Given the description of an element on the screen output the (x, y) to click on. 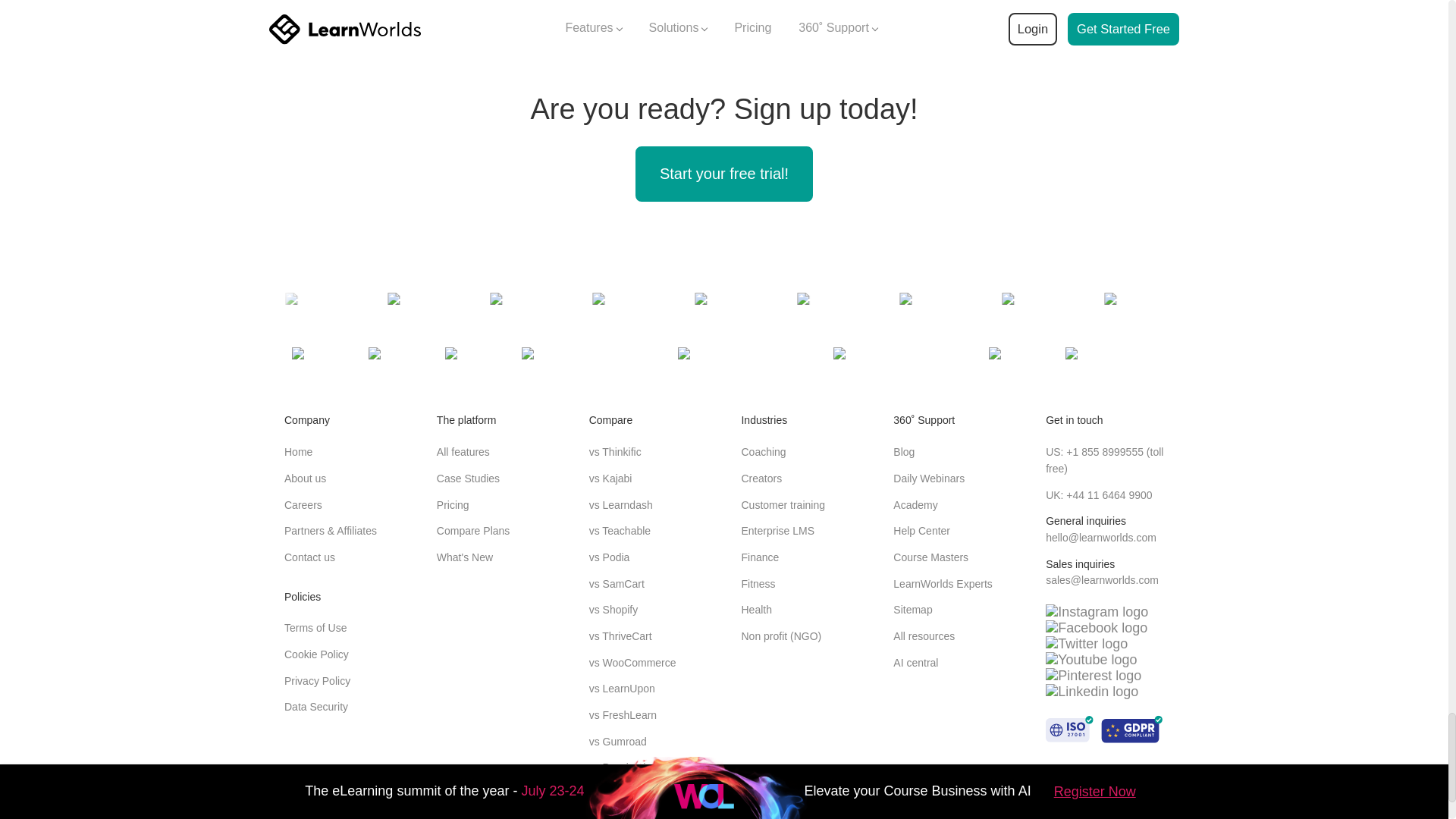
send email to LearnWorlds (1100, 537)
send email to LearnWorlds (1101, 580)
